Given the description of an element on the screen output the (x, y) to click on. 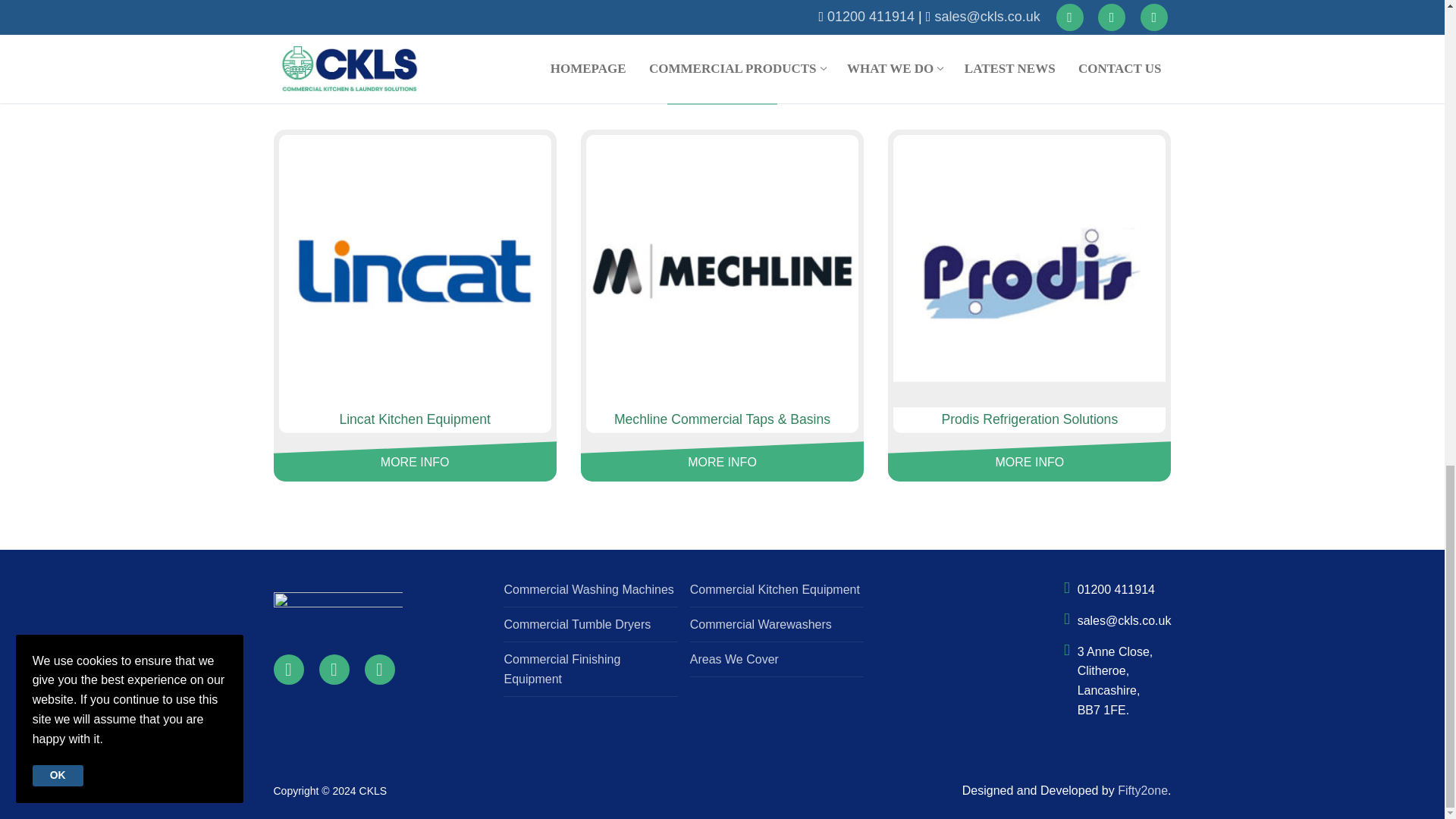
Instagram (333, 669)
MORE INFO (414, 461)
LinkedIn (379, 669)
MORE INFO (722, 461)
Facebook (287, 669)
Lincat Kitchen Equipment (415, 420)
